Given the description of an element on the screen output the (x, y) to click on. 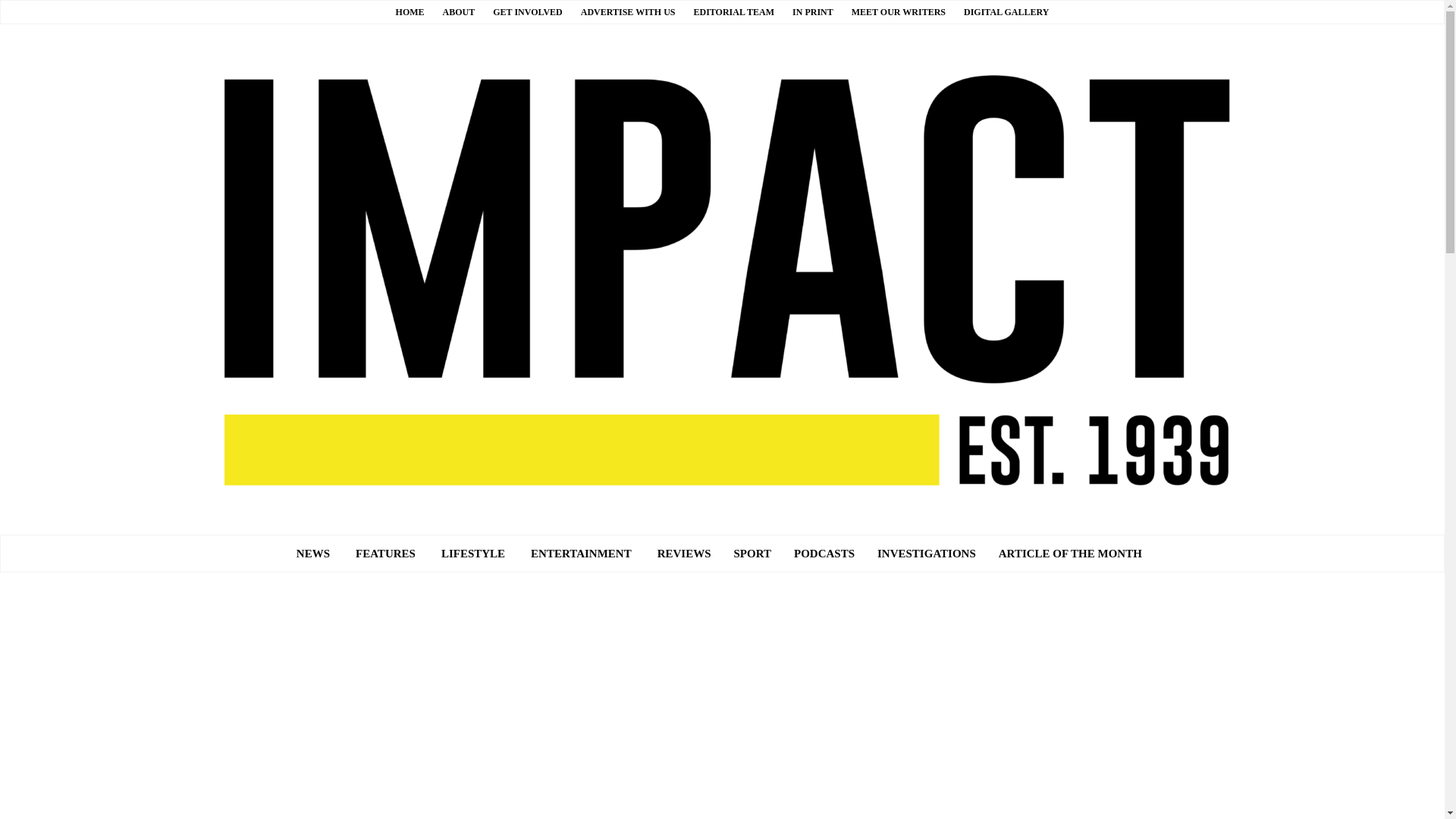
ADVERTISE WITH US (627, 11)
EDITORIAL TEAM (733, 11)
DIGITAL GALLERY (1005, 11)
NEWS (312, 553)
GET INVOLVED (527, 11)
News (312, 553)
ABOUT (459, 11)
MEET OUR WRITERS (897, 11)
HOME (410, 11)
IN PRINT (812, 11)
